Given the description of an element on the screen output the (x, y) to click on. 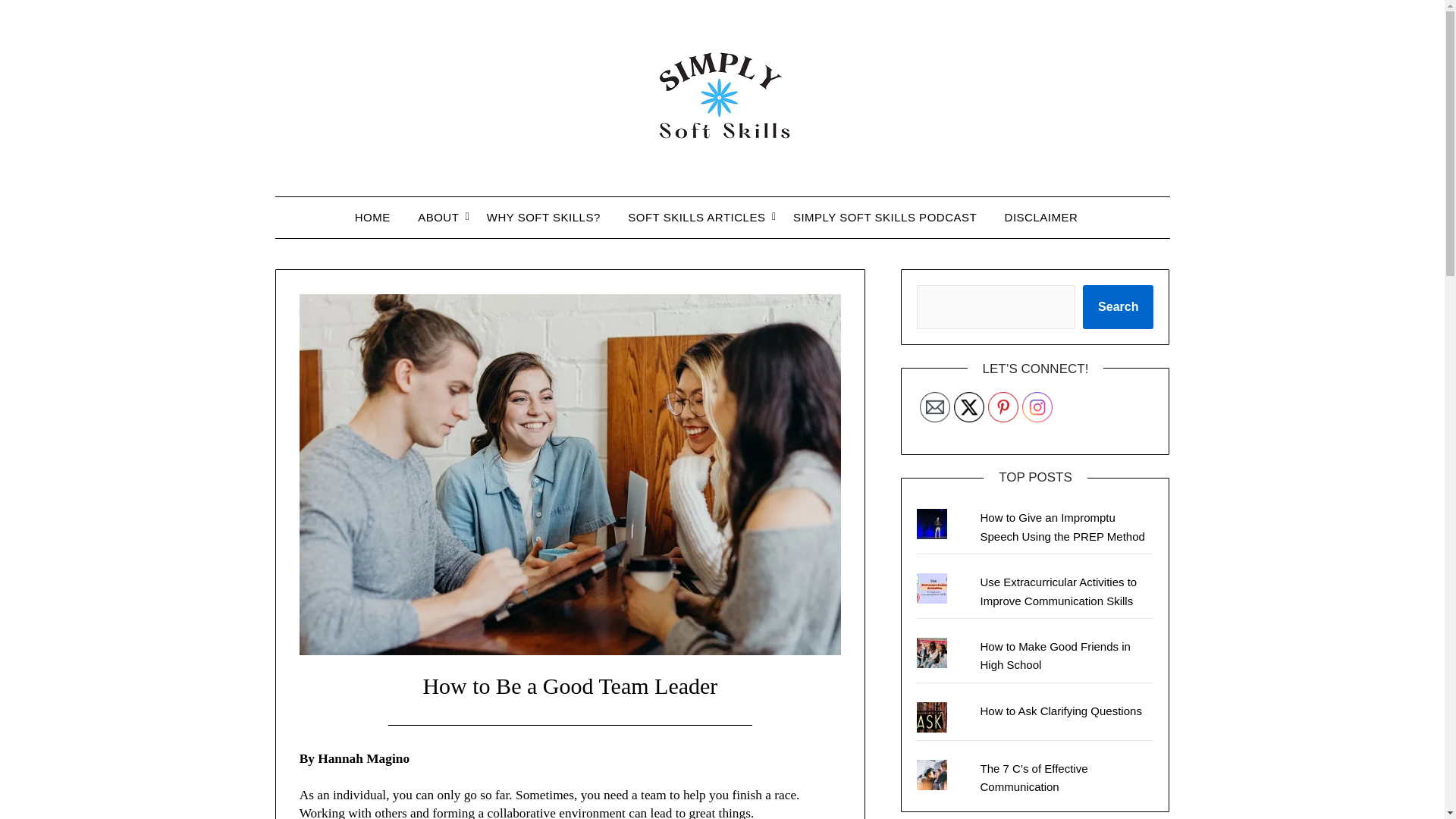
How to Make Good Friends in High School (1054, 654)
ABOUT (438, 217)
Instagram (1037, 407)
HOME (379, 217)
Search (1118, 307)
How to Ask Clarifying Questions (1060, 710)
SIMPLY SOFT SKILLS PODCAST (884, 217)
SOFT SKILLS ARTICLES (696, 217)
DISCLAIMER (1041, 217)
WHY SOFT SKILLS? (543, 217)
